Given the description of an element on the screen output the (x, y) to click on. 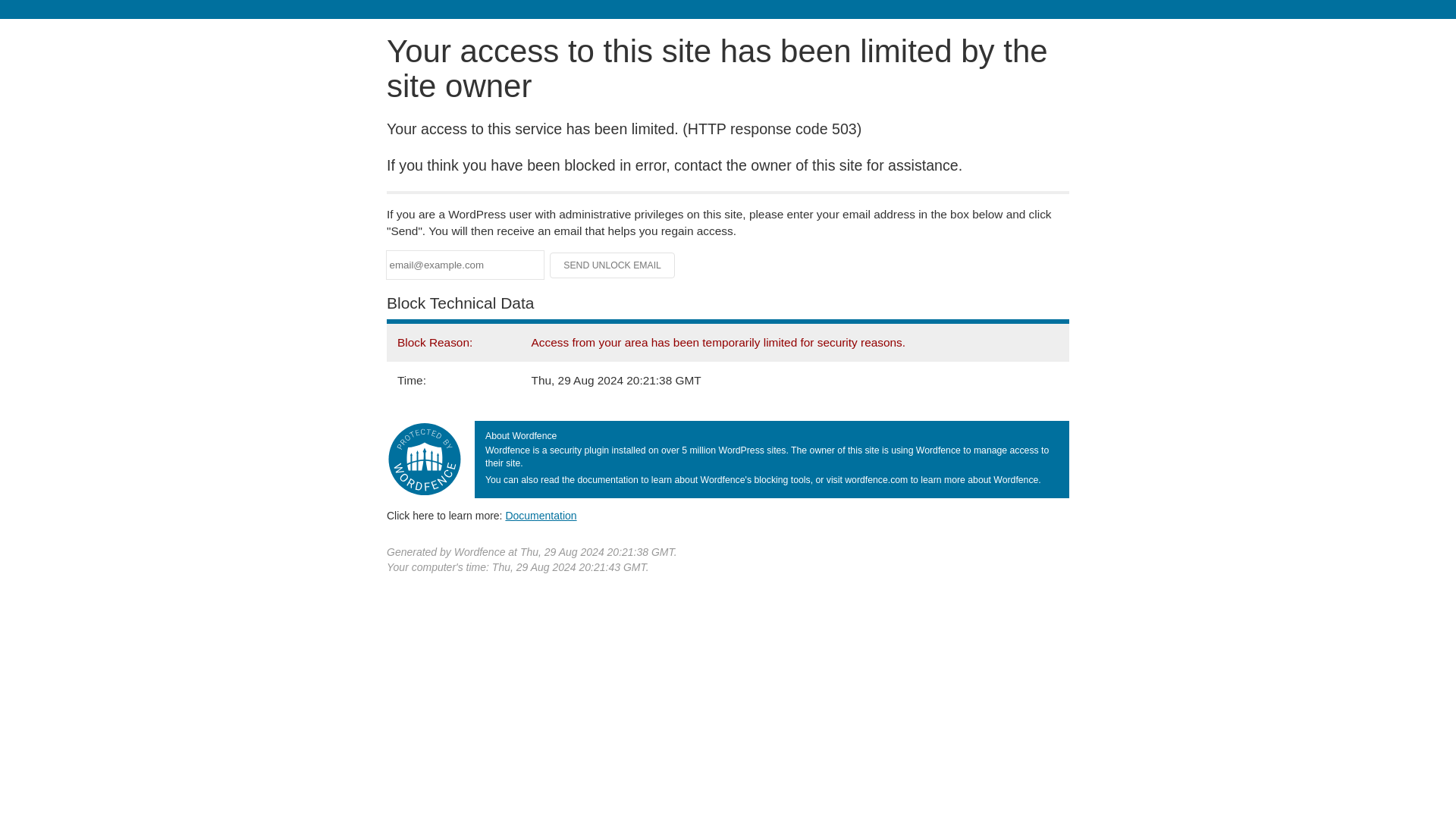
Documentation (540, 515)
Send Unlock Email (612, 265)
Send Unlock Email (612, 265)
